Given the description of an element on the screen output the (x, y) to click on. 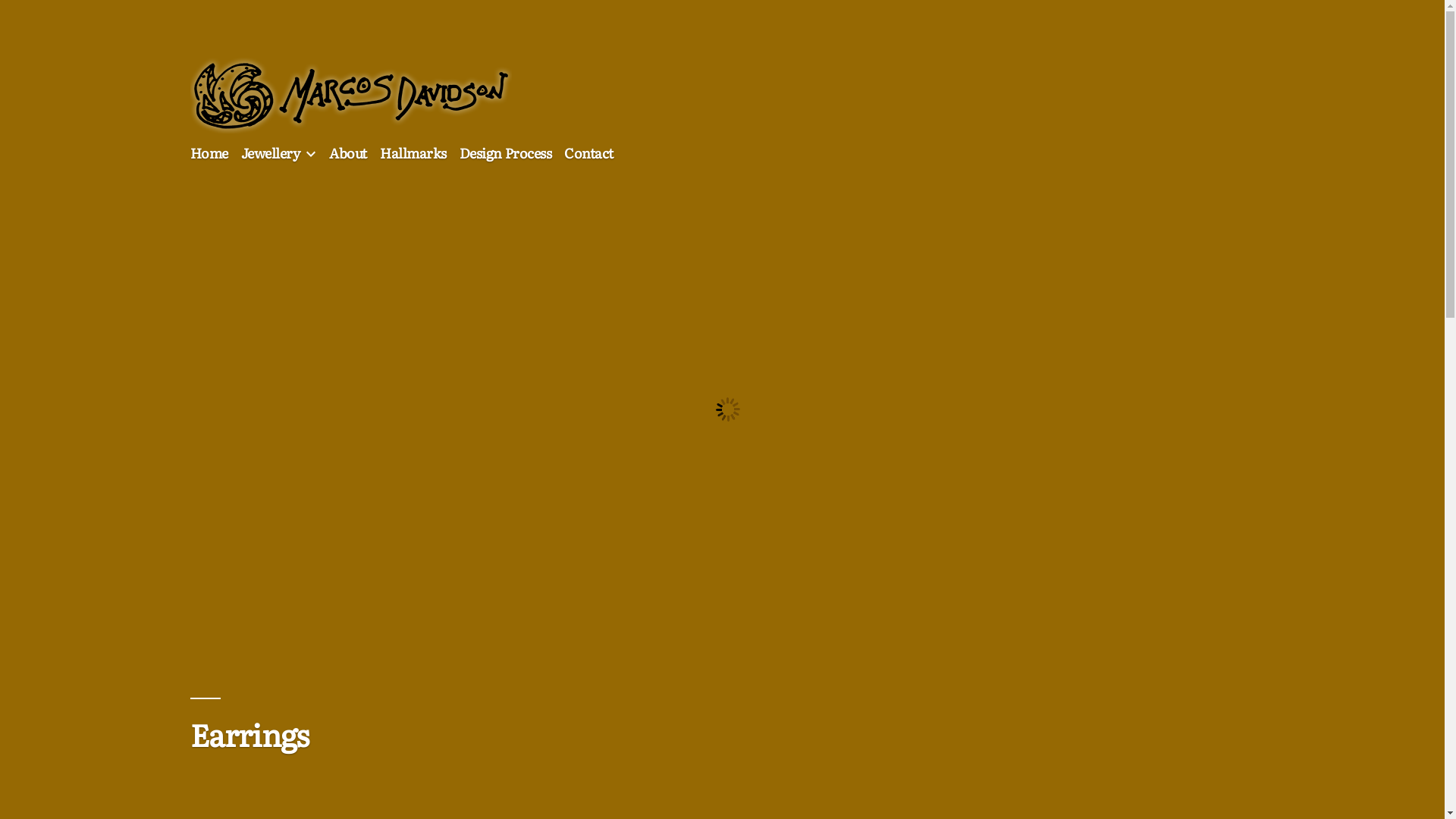
Design Process Element type: text (505, 152)
Jewellery Element type: text (270, 152)
Hallmarks Element type: text (412, 152)
Home Element type: text (208, 152)
Contact Element type: text (588, 152)
About Element type: text (348, 152)
